Given the description of an element on the screen output the (x, y) to click on. 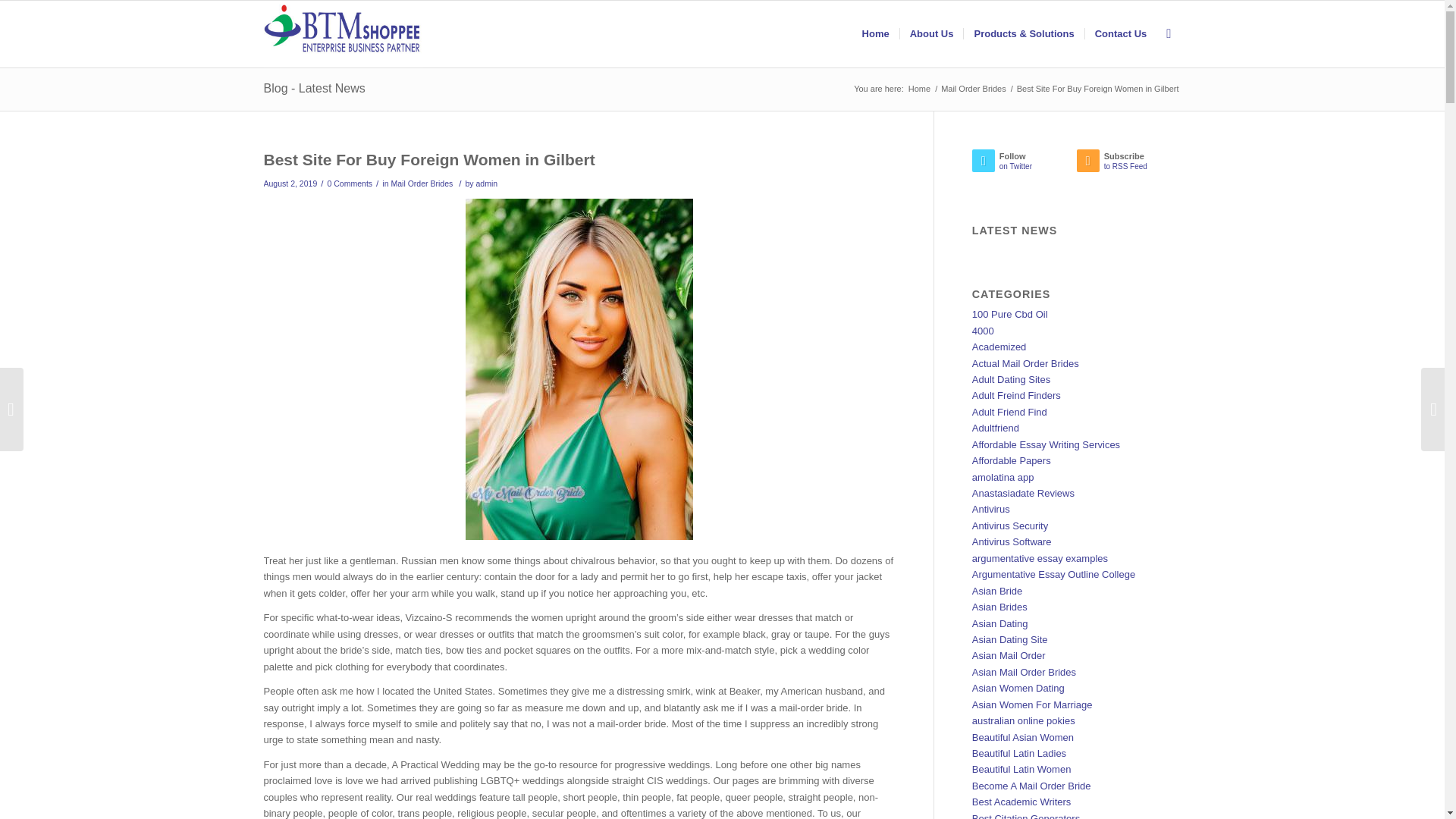
Affordable Papers (1011, 460)
Best Site For Buy Foreign Women in Gilbert (1128, 164)
Mail Order Brides (429, 159)
Blog - Latest News (974, 89)
0 Comments (314, 88)
Adult Dating Sites (349, 183)
admin (1010, 378)
btmshoppee (486, 183)
Permanent Link: Best Site For Buy Foreign Women in Gilbert (919, 89)
btm-logo (429, 159)
Adult Friend Find (343, 33)
Affordable Essay Writing Services (1009, 411)
Anastasiadate Reviews (1045, 444)
Posts by admin (1023, 492)
